Given the description of an element on the screen output the (x, y) to click on. 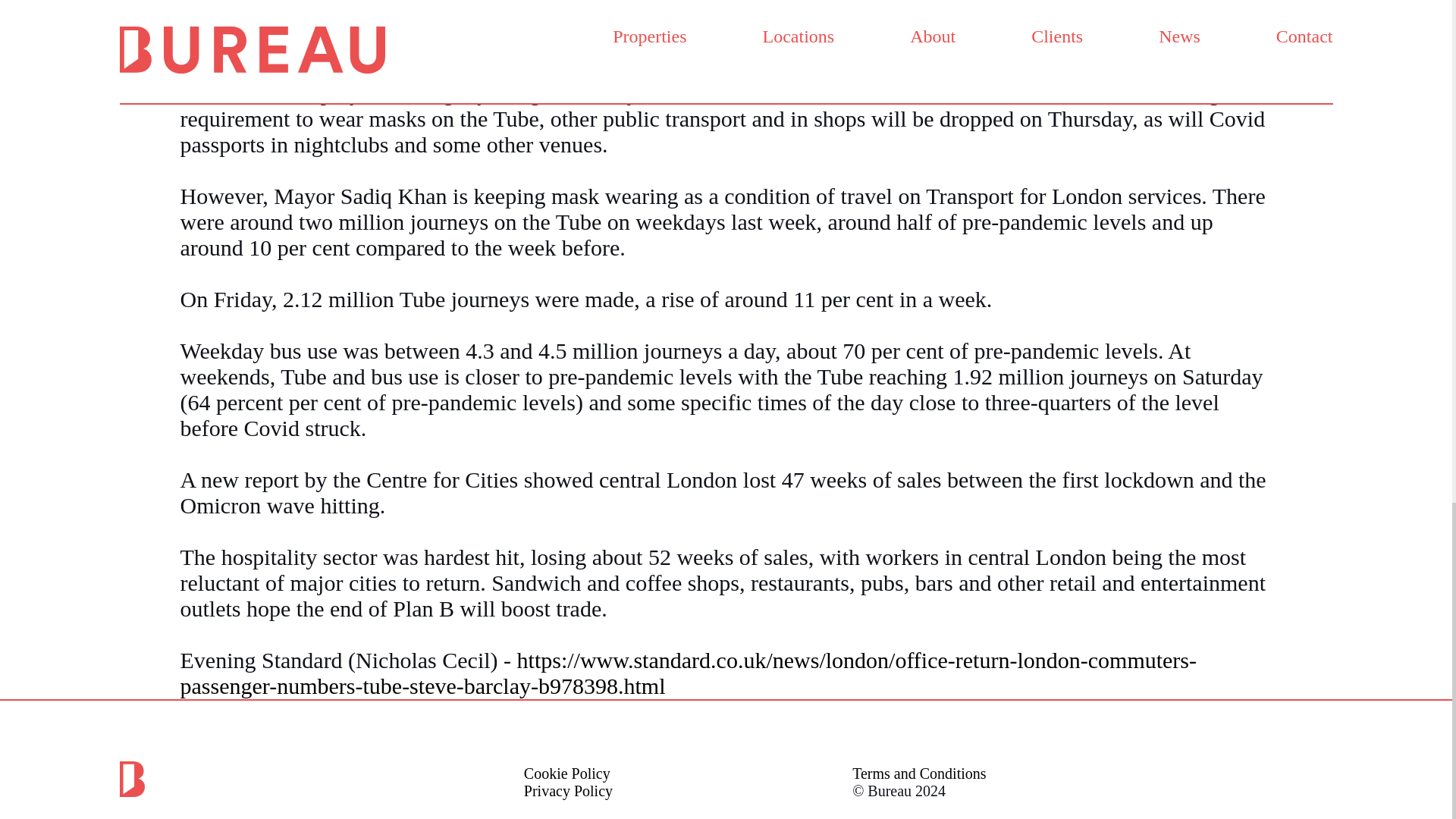
Cookie Policy (567, 773)
Terms and Conditions (918, 773)
Privacy Policy (568, 790)
